Given the description of an element on the screen output the (x, y) to click on. 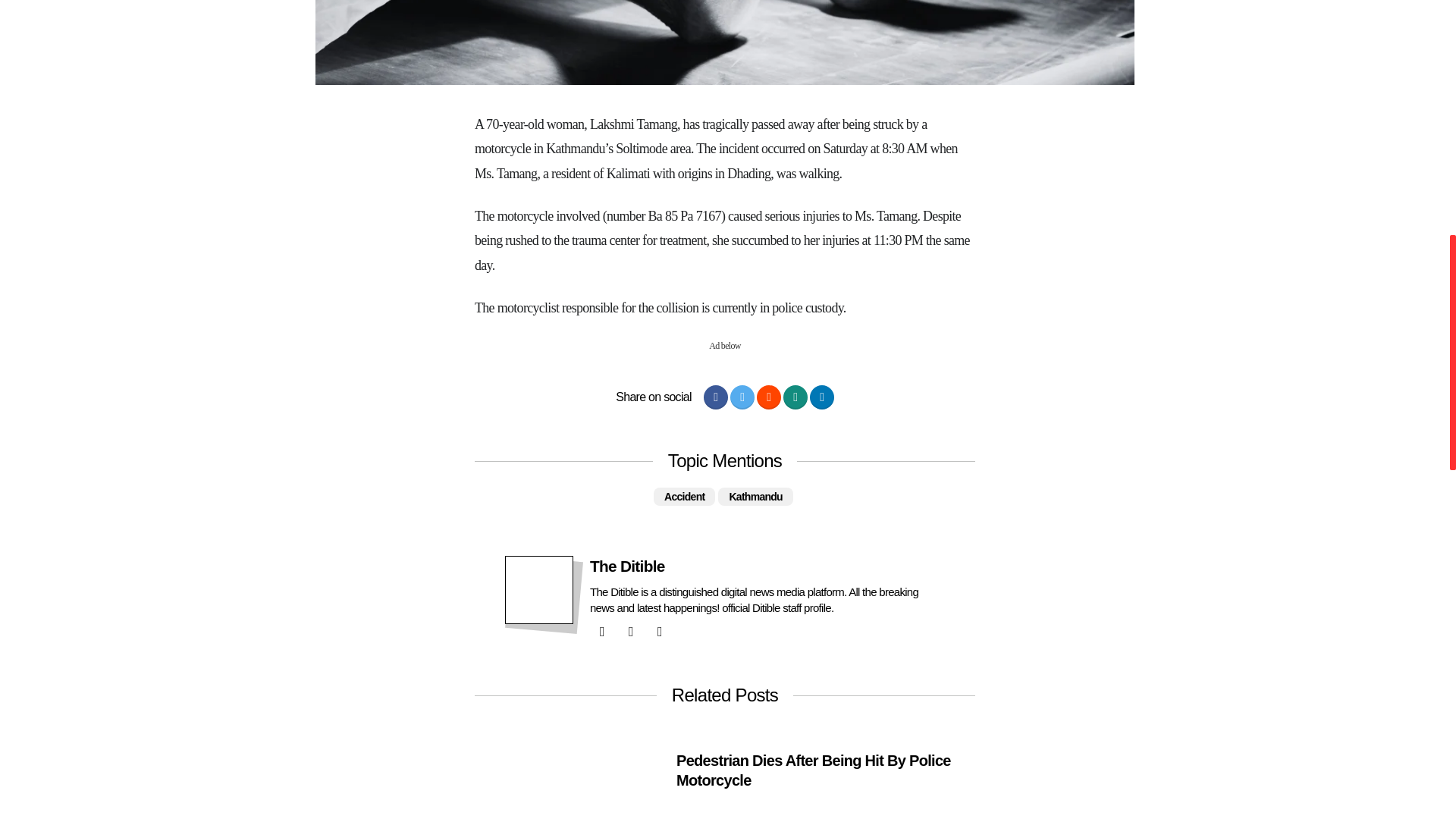
Pedestrian Dies After Being Hit By Police Motorcycle (825, 770)
The Ditible (627, 565)
Accident (683, 496)
Woman Dies Following Motorcycle Collision in Kathmandu (724, 42)
Kathmandu (755, 496)
